Given the description of an element on the screen output the (x, y) to click on. 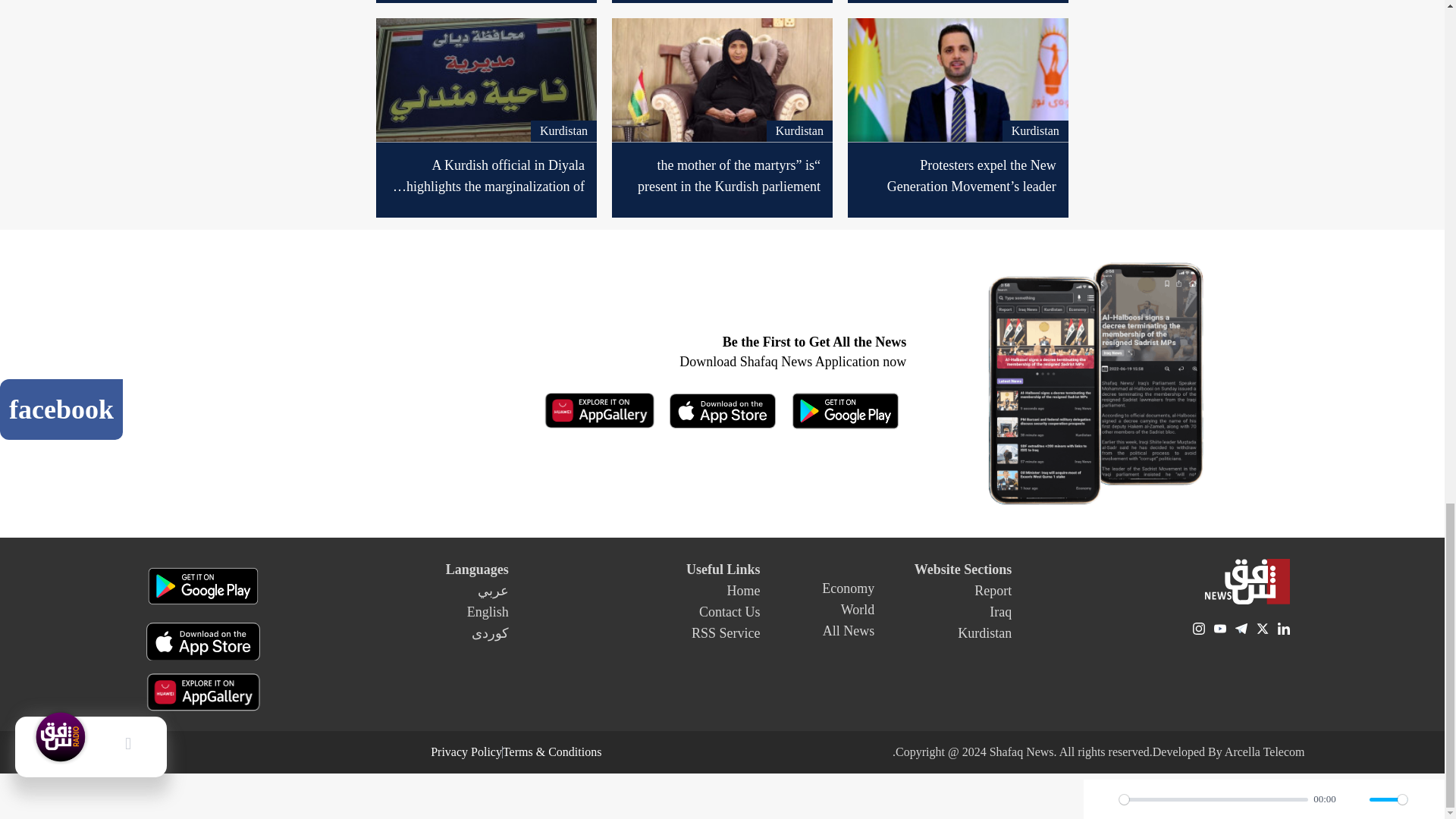
0 (1213, 799)
1 (1388, 799)
